Given the description of an element on the screen output the (x, y) to click on. 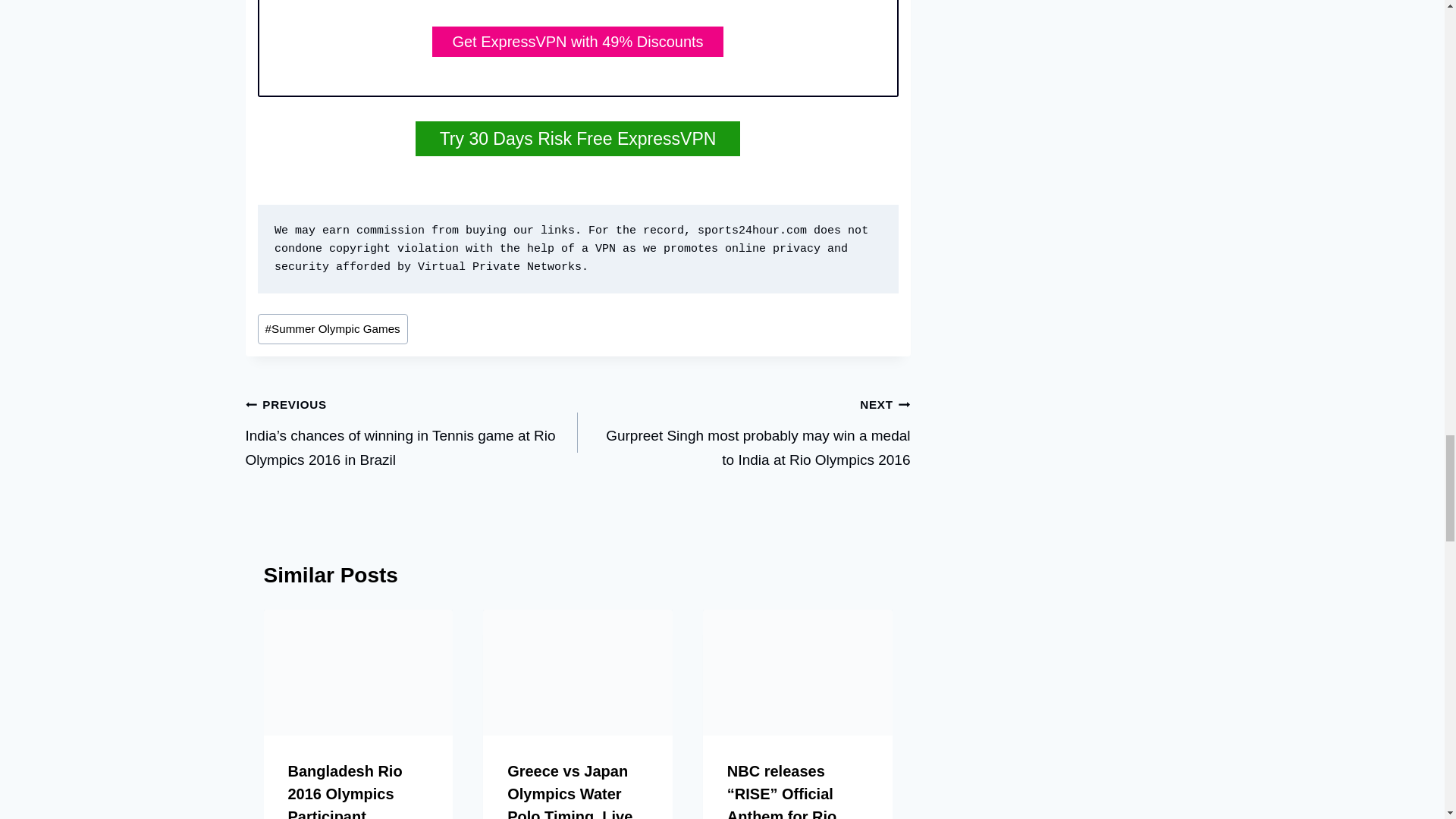
Summer Olympic Games (332, 328)
maxresdefault20 (797, 672)
Try 30 Days Risk Free ExpressVPN (577, 138)
Greece water polo team ready for the rio 2016 (577, 672)
Bangladesh athletes in rio olympics games 2016 (357, 672)
